Given the description of an element on the screen output the (x, y) to click on. 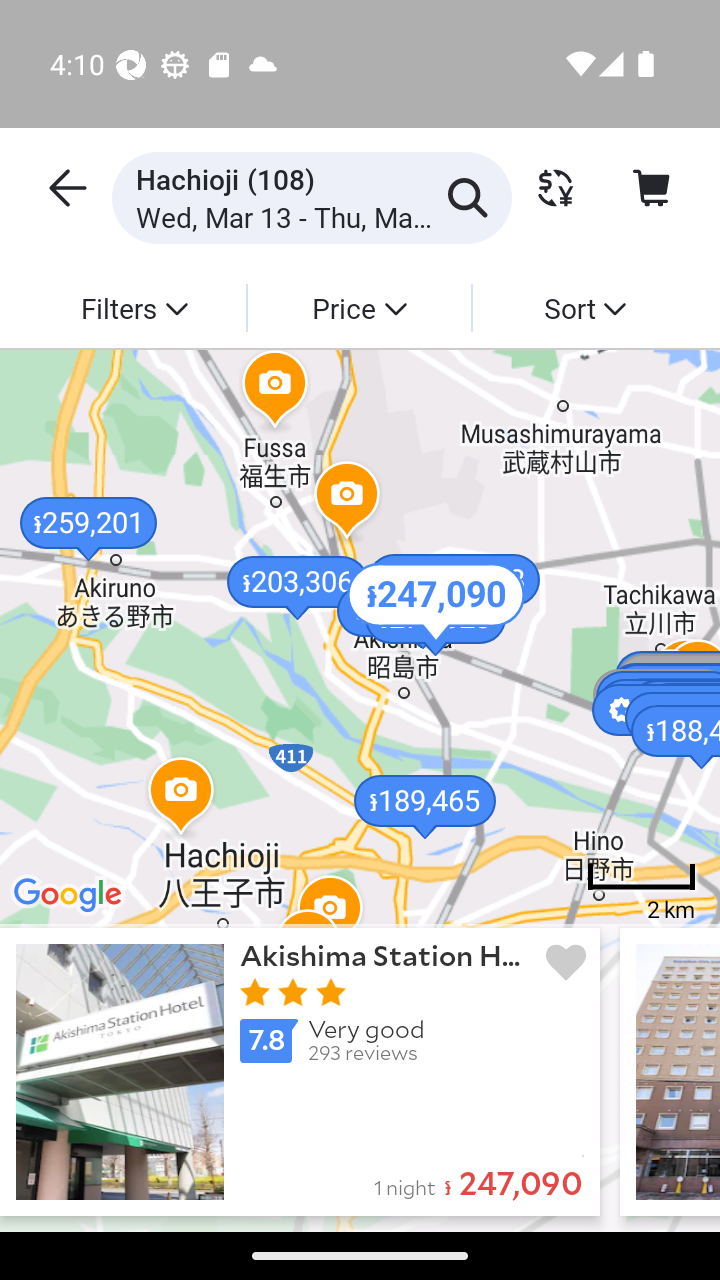
Filters (134, 307)
Price (358, 307)
Sort (584, 307)
